Given the description of an element on the screen output the (x, y) to click on. 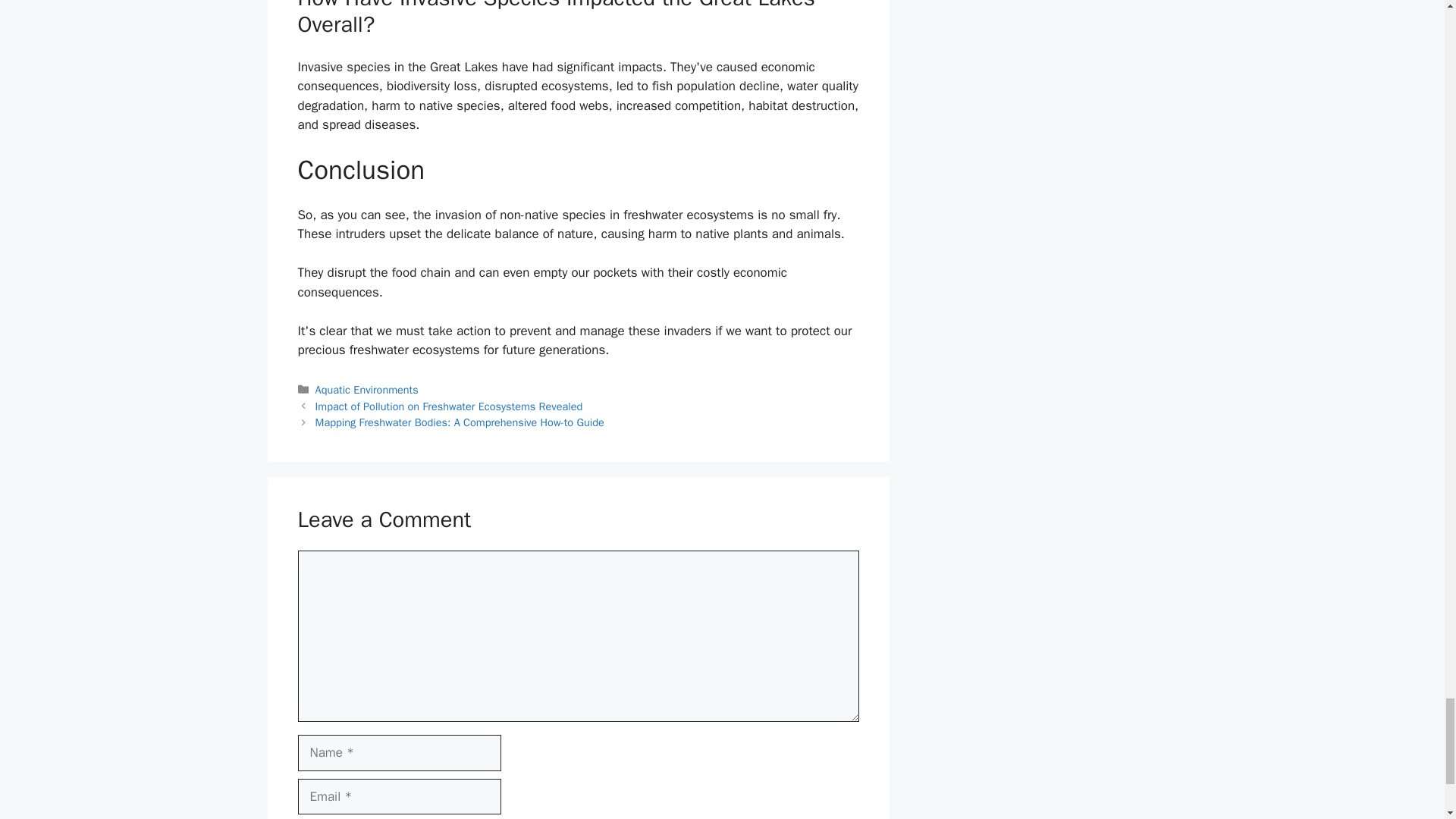
Next (459, 422)
Aquatic Environments (367, 389)
Impact of Pollution on Freshwater Ecosystems Revealed (449, 405)
Previous (449, 405)
Mapping Freshwater Bodies: A Comprehensive How-to Guide (459, 422)
